Given the description of an element on the screen output the (x, y) to click on. 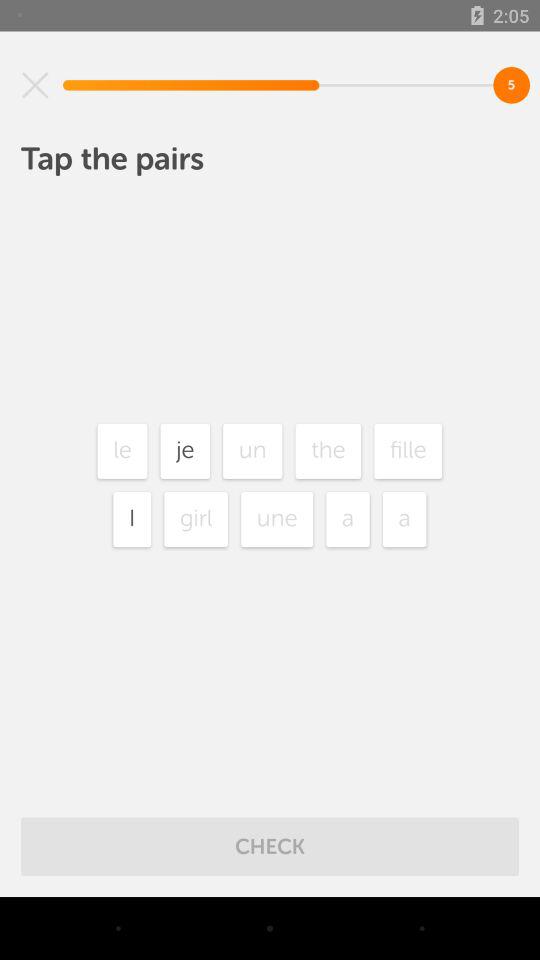
flip to check icon (270, 846)
